Given the description of an element on the screen output the (x, y) to click on. 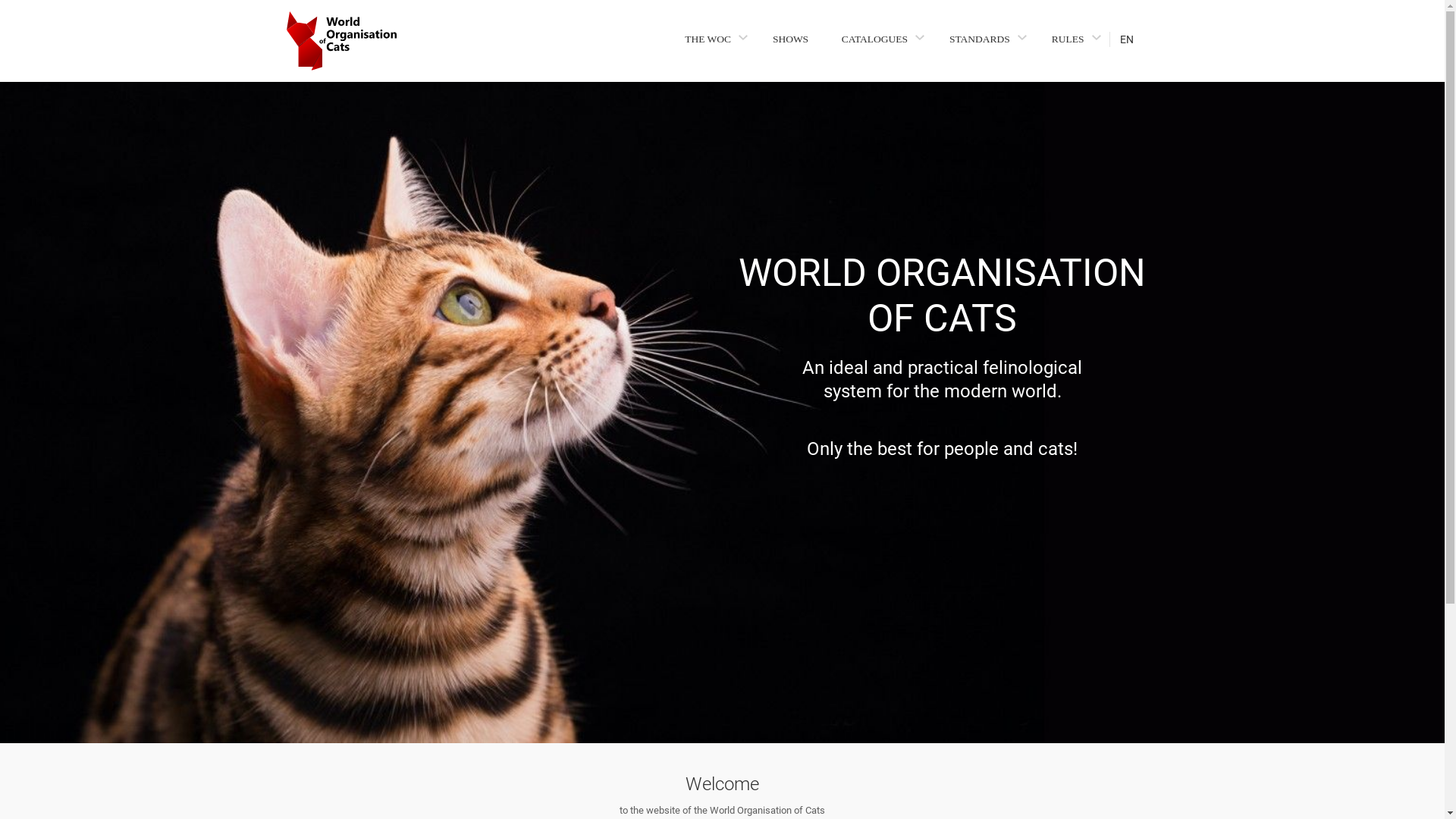
RULES Element type: text (1072, 39)
SHOWS Element type: text (790, 39)
EN Element type: text (1132, 39)
THE WOC Element type: text (711, 39)
CATALOGUES Element type: text (878, 39)
STANDARDS Element type: text (983, 39)
